Given the description of an element on the screen output the (x, y) to click on. 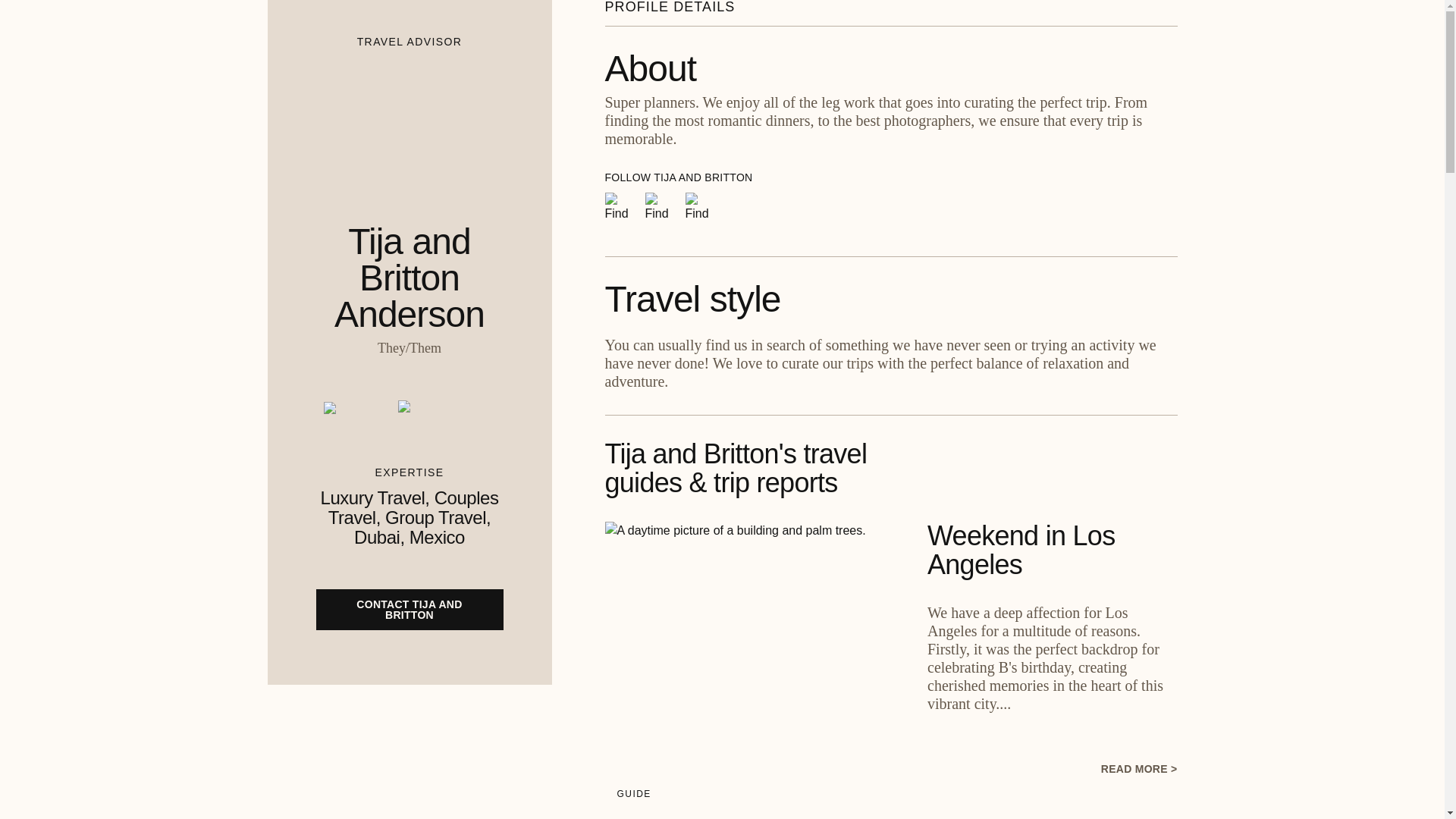
CONTACT TIJA AND BRITTON (408, 608)
